Given the description of an element on the screen output the (x, y) to click on. 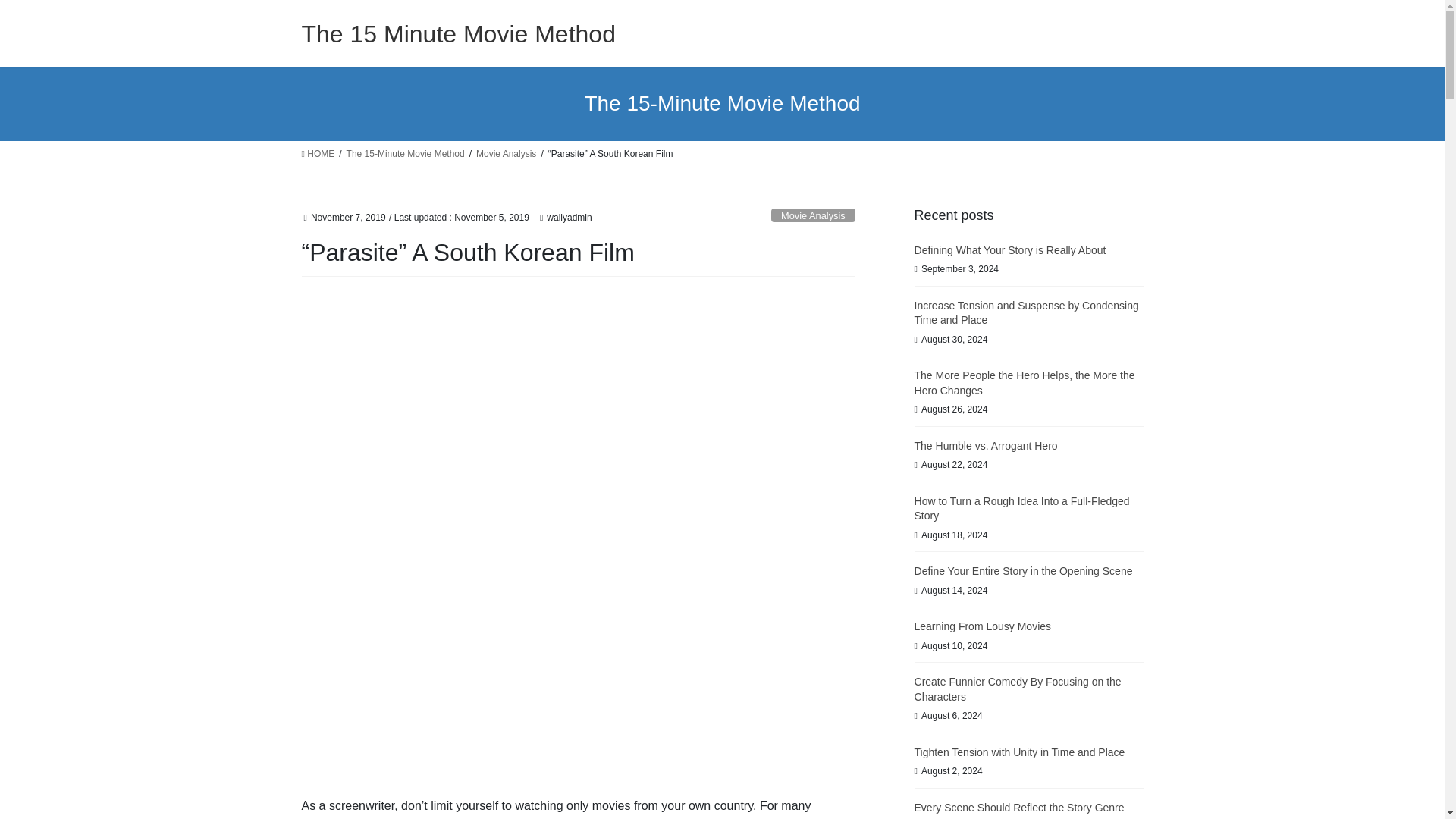
Every Scene Should Reflect the Story Genre (1019, 807)
Create Funnier Comedy By Focusing on the Characters (1017, 688)
Defining What Your Story is Really About (1010, 250)
The More People the Hero Helps, the More the Hero Changes (1024, 382)
Tighten Tension with Unity in Time and Place (1019, 752)
The 15 Minute Movie Method (458, 33)
HOME (317, 153)
How to Turn a Rough Idea Into a Full-Fledged Story (1021, 508)
The Humble vs. Arrogant Hero (986, 445)
Increase Tension and Suspense by Condensing Time and Place (1026, 312)
